Given the description of an element on the screen output the (x, y) to click on. 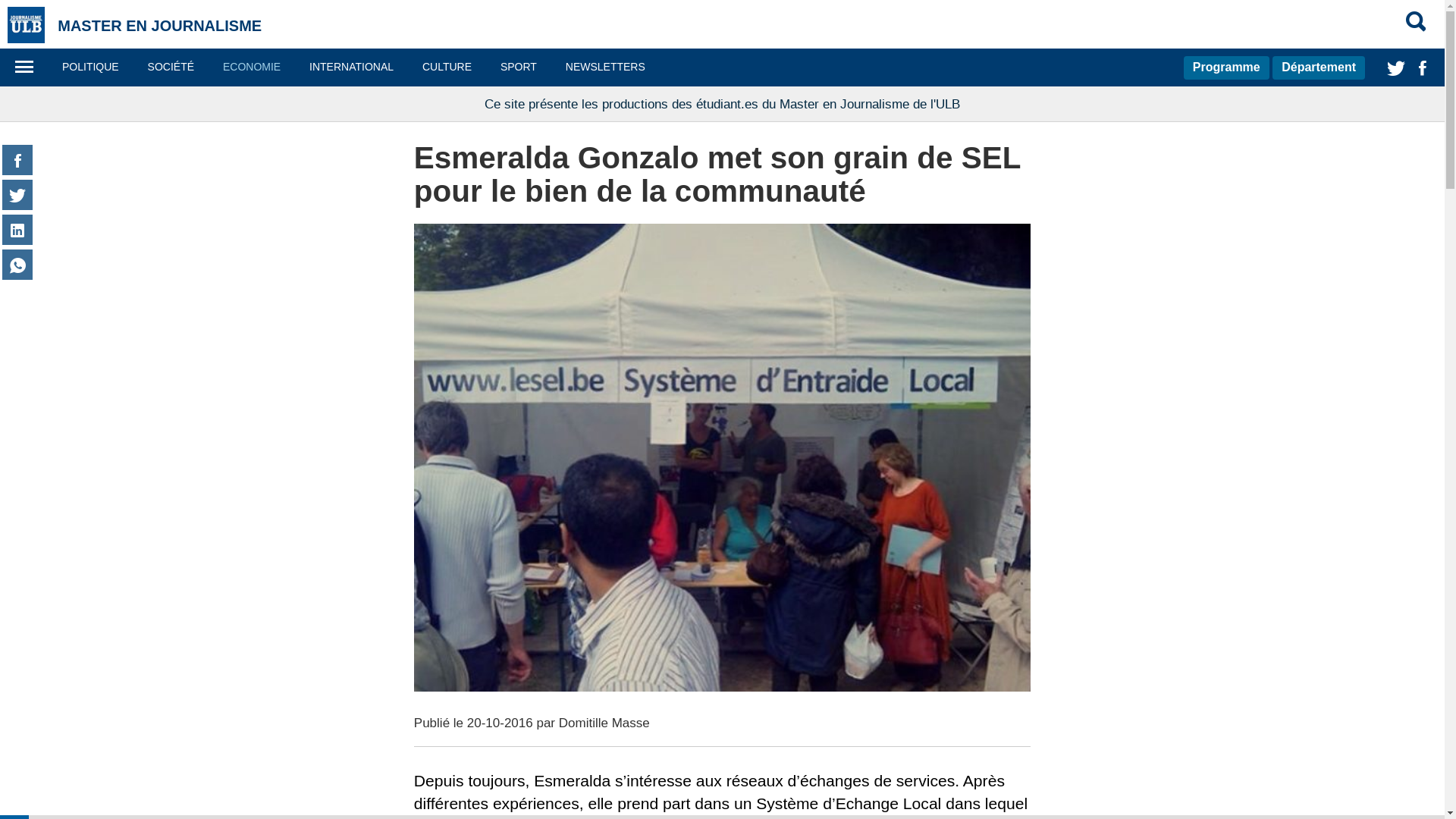
ECONOMIE Element type: text (251, 66)
SPORT Element type: text (518, 66)
Partager sur LinkedIn Element type: hover (17, 230)
CULTURE Element type: text (446, 66)
Partager sur Twitter Element type: hover (17, 195)
POLITIQUE Element type: text (90, 66)
INTERNATIONAL Element type: text (351, 66)
Programme Element type: text (1226, 67)
MASTER EN JOURNALISME Element type: text (159, 25)
Programme Element type: text (1226, 66)
NEWSLETTERS Element type: text (605, 66)
Domitille Masse Element type: text (603, 722)
